Given the description of an element on the screen output the (x, y) to click on. 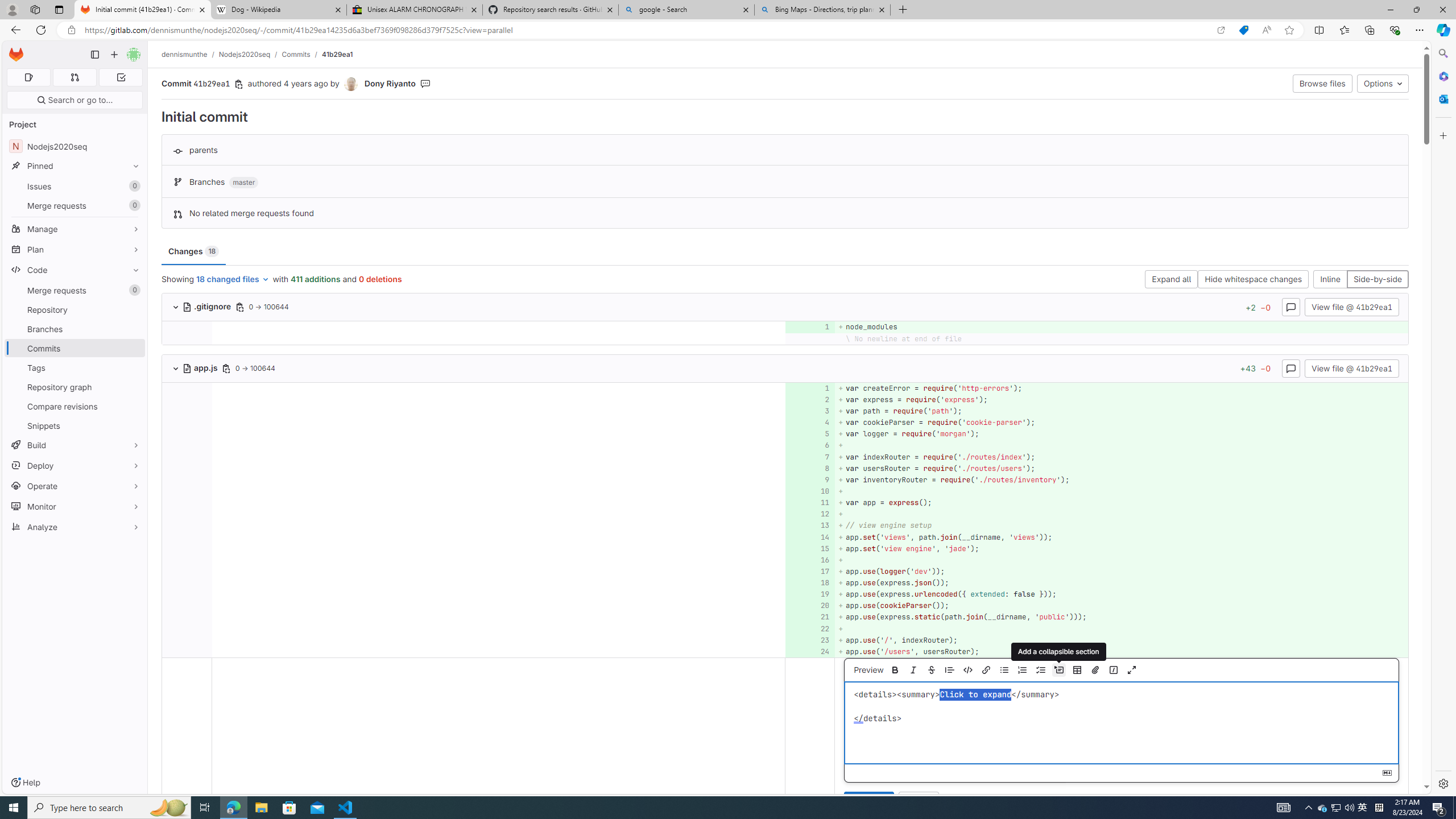
+ app.use(express.static(path.join(__dirname, 'public')));  (1120, 617)
Class: notes-content parallel old (497, 737)
Side-by-side (1377, 279)
Add a comment to this line 7 (809, 456)
Compare revisions (74, 406)
Dony Riyanto (390, 83)
Build (74, 444)
Add a comment to this line 18 (809, 582)
Add a comment to this line 8 (809, 468)
Analyze (74, 526)
